Given the description of an element on the screen output the (x, y) to click on. 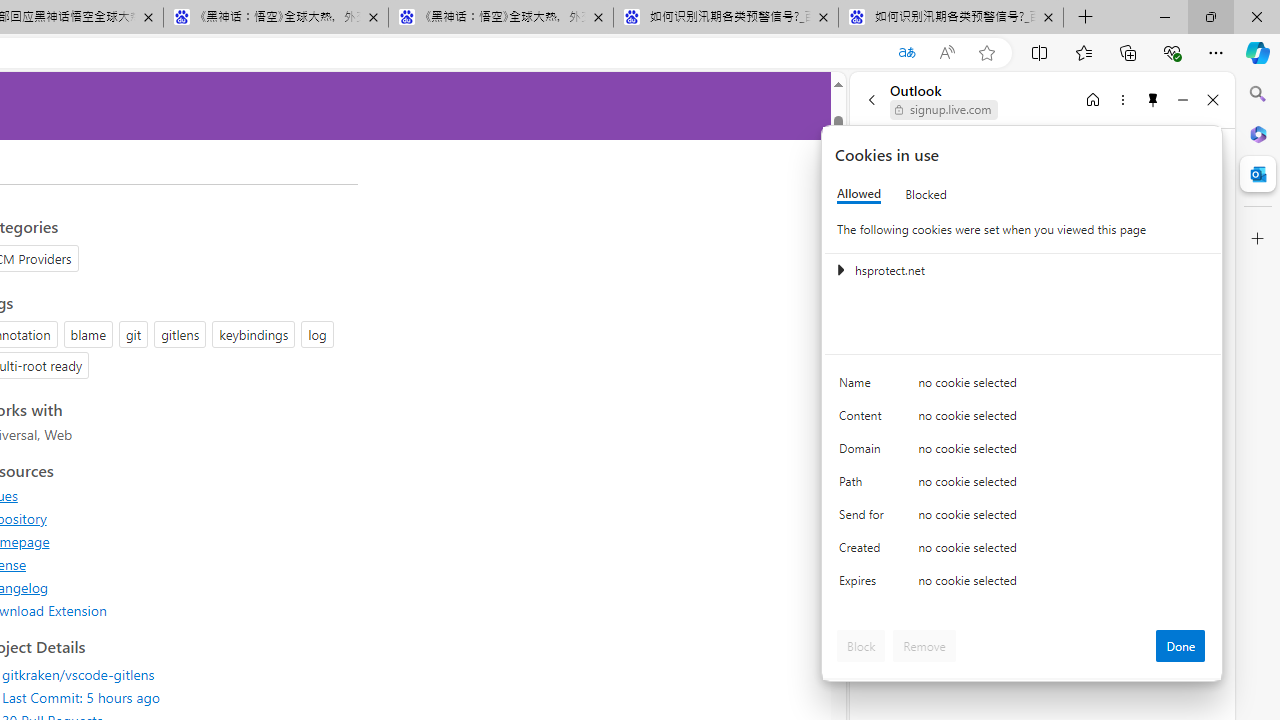
Name (864, 387)
Expires (864, 585)
Allowed (859, 193)
Blocked (925, 193)
Microsoft (927, 164)
